Given the description of an element on the screen output the (x, y) to click on. 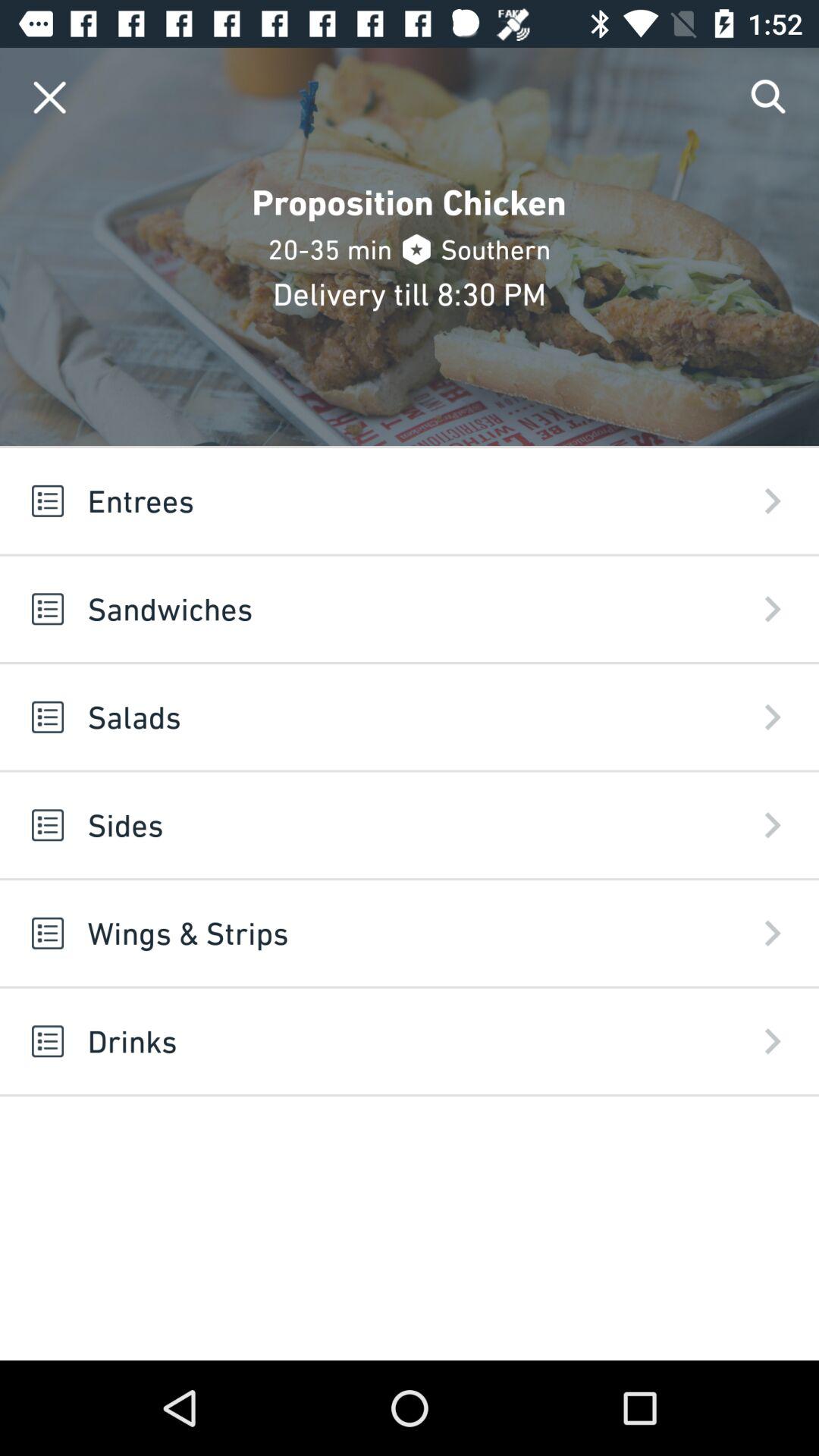
close window (49, 97)
